Given the description of an element on the screen output the (x, y) to click on. 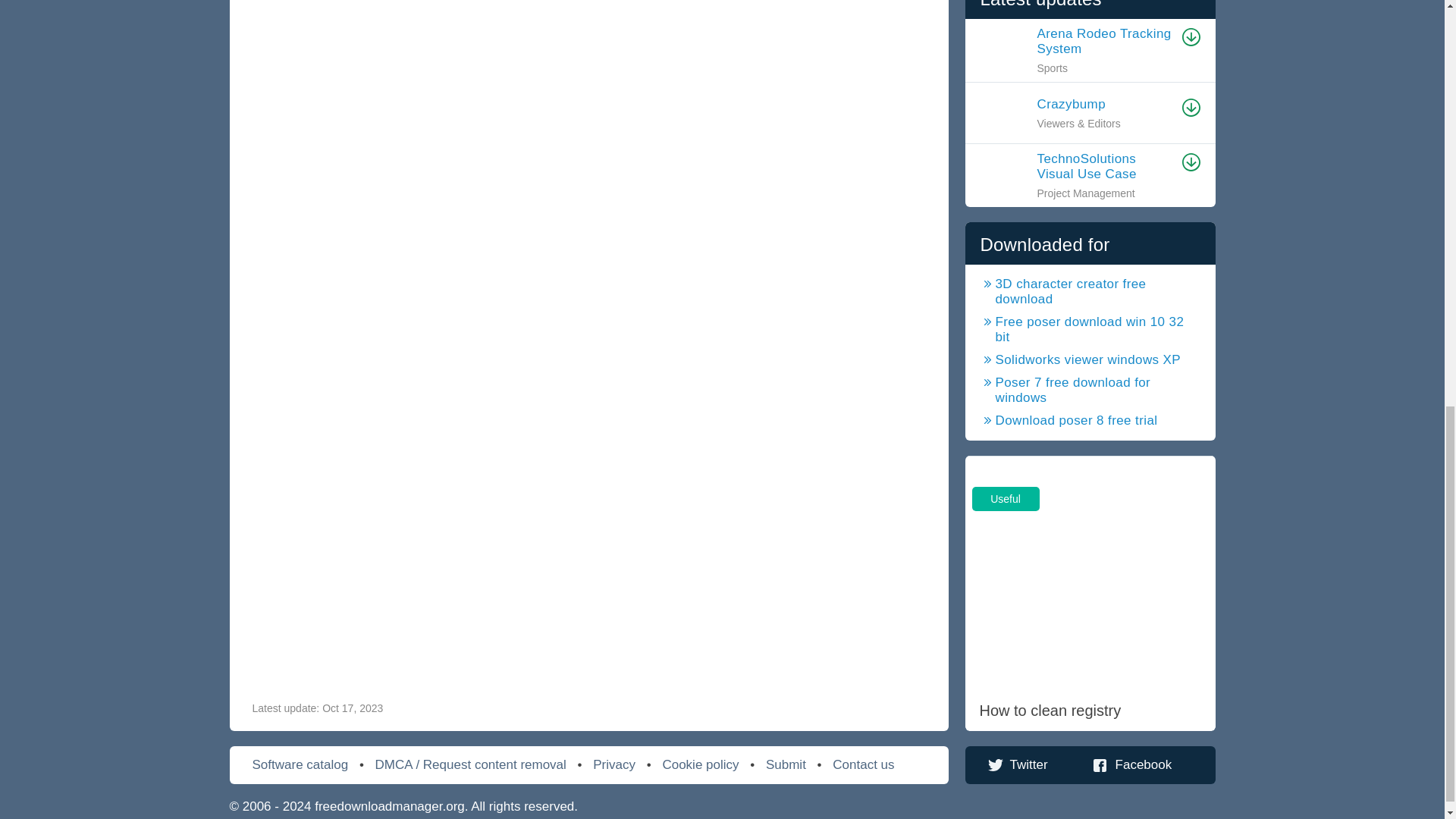
free poser download win 10 32 bit (1089, 329)
Arena Rodeo Tracking System (1104, 41)
3D character creator free download (1089, 291)
Crazybump (1104, 104)
solidworks viewer windows XP (1079, 359)
poser 7 free download for windows (1089, 390)
Arena Rodeo Tracking System (1104, 41)
How to clean registry (1088, 593)
TechnoSolutions Visual Use Case (1104, 166)
download poser 8 free trial (1068, 420)
